Given the description of an element on the screen output the (x, y) to click on. 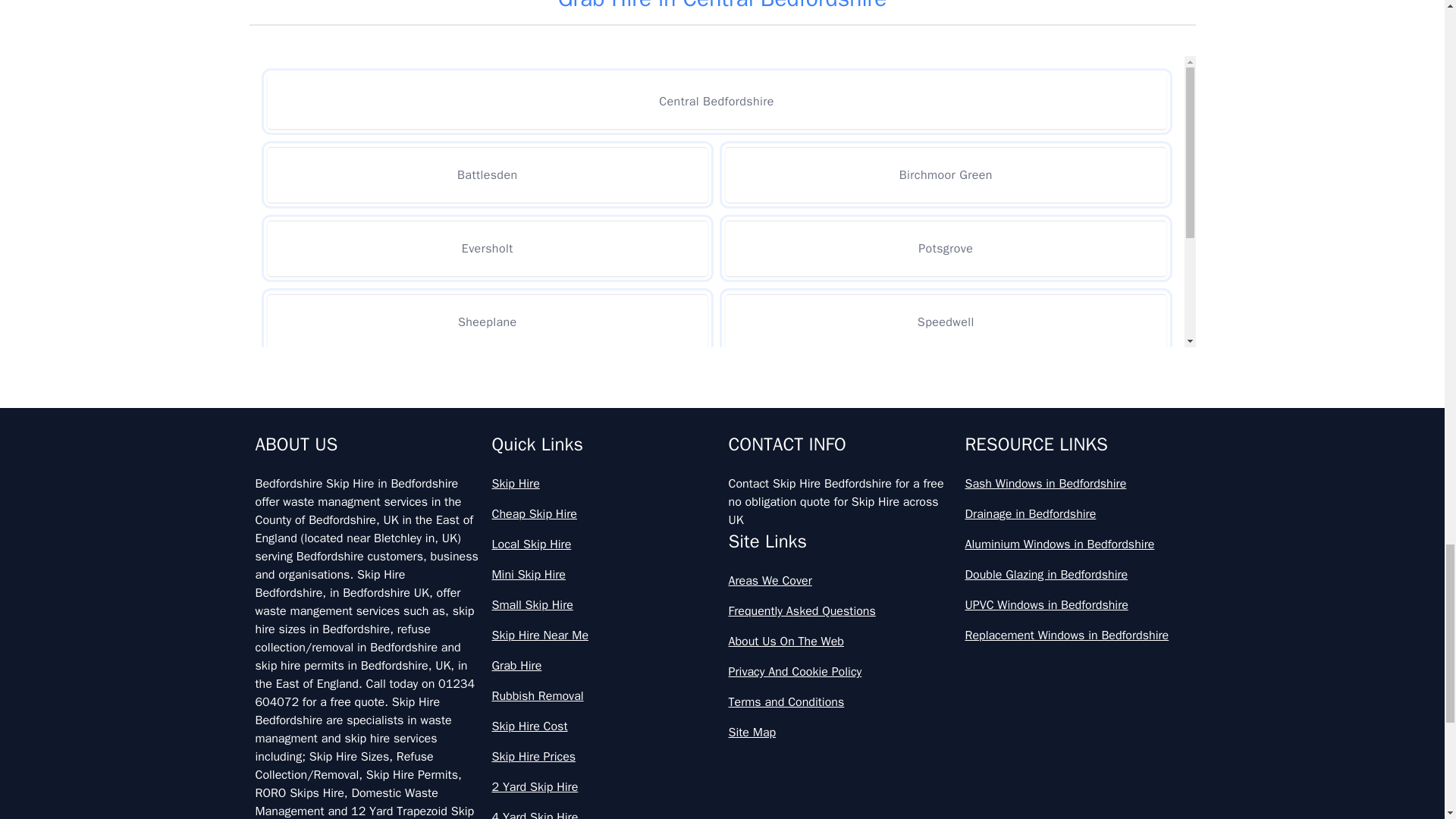
UPVC Windows in Bedfordshire (1076, 605)
Aluminium Windows in Bedfordshire (1076, 544)
What Is Grab Hire In Bedfordshire (722, 469)
Sash Windows in Bedfordshire (1076, 484)
Drainage in Bedfordshire (1076, 514)
How Much To Hire A Grab Lorry In Bedfordshire (722, 336)
Replacement Windows in Bedfordshire (1076, 635)
How Much Is A Grab Hire In Bedfordshire (722, 69)
How Much Is Grab Lorry Hire In Bedfordshire (722, 269)
How Much For Grab Hire In Bedfordshire (722, 13)
Site Map (840, 732)
Is Grab Hire Cheaper Than A Skip In Bedfordshire (722, 403)
How Much Is A Grab Lorry To Hire In Bedfordshire (722, 136)
How Much Is Grab Hire In Bedfordshire (722, 203)
Double Glazing in Bedfordshire (1076, 574)
